Given the description of an element on the screen output the (x, y) to click on. 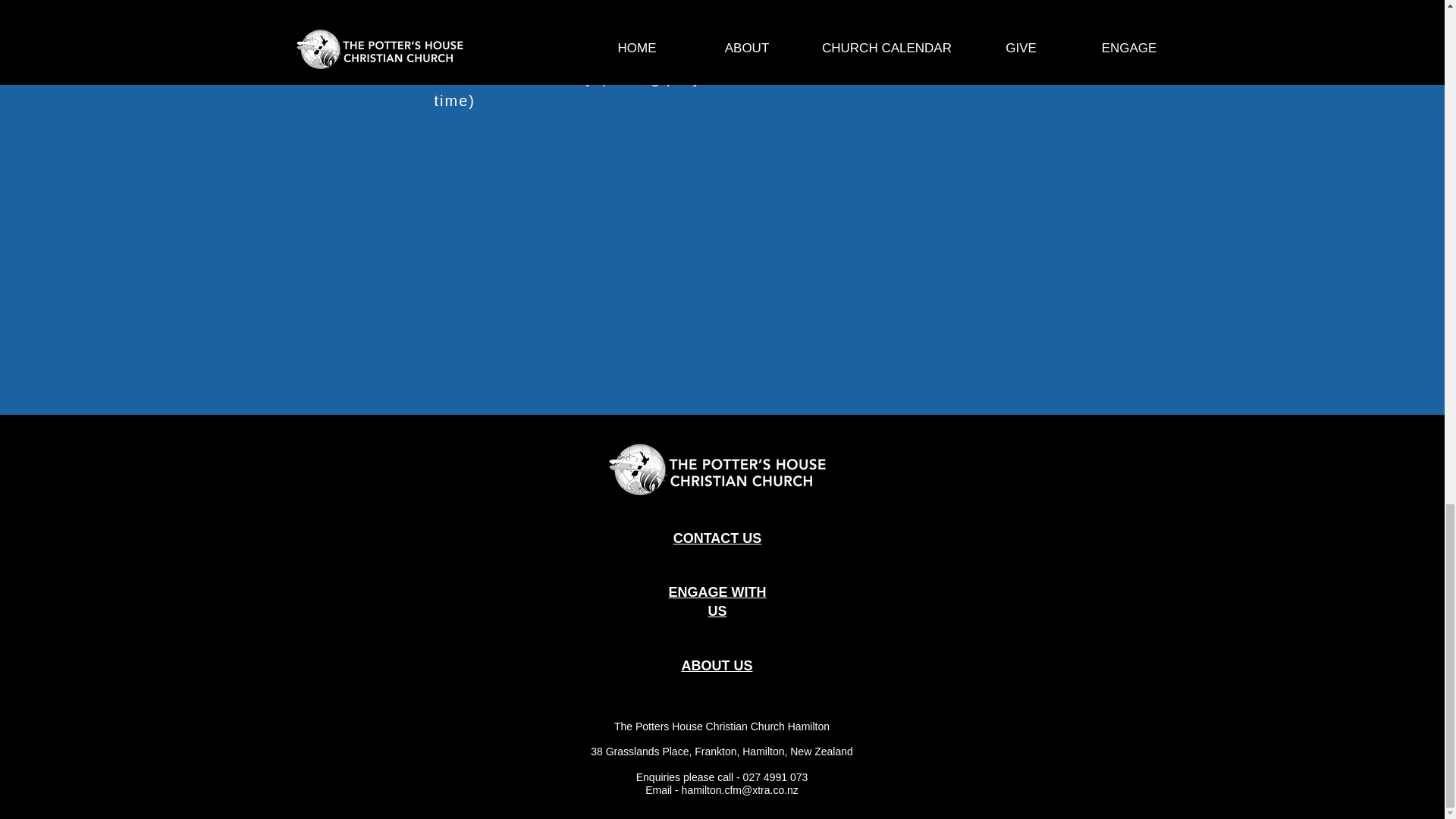
CONTACT US (716, 538)
ABOUT US (716, 665)
ENGAGE WITH US (717, 601)
